Given the description of an element on the screen output the (x, y) to click on. 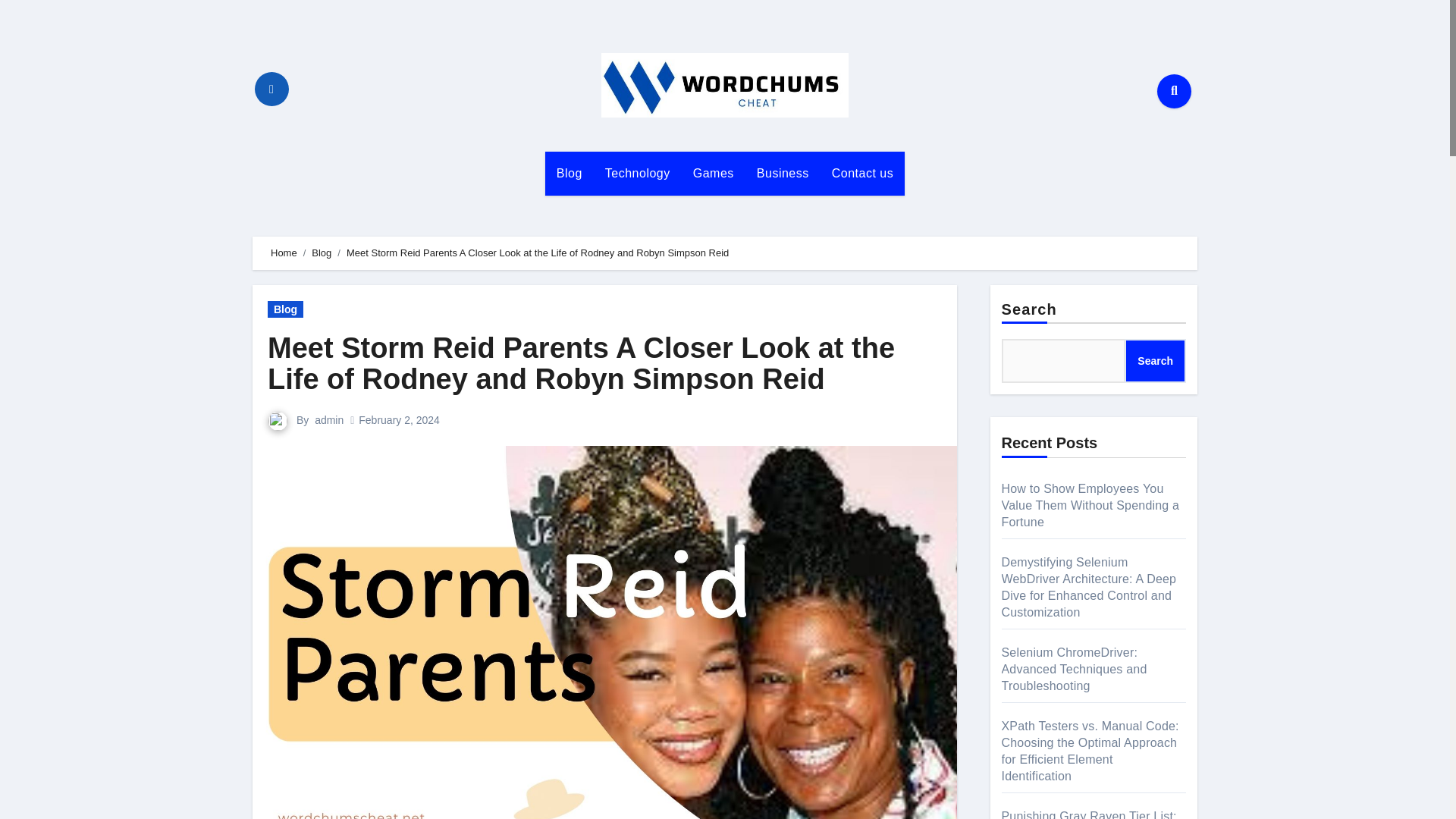
Business (783, 173)
Contact us (862, 173)
Technology (637, 173)
Blog (284, 309)
Blog (569, 173)
Blog (569, 173)
Games (713, 173)
Technology (637, 173)
Games (713, 173)
